Given the description of an element on the screen output the (x, y) to click on. 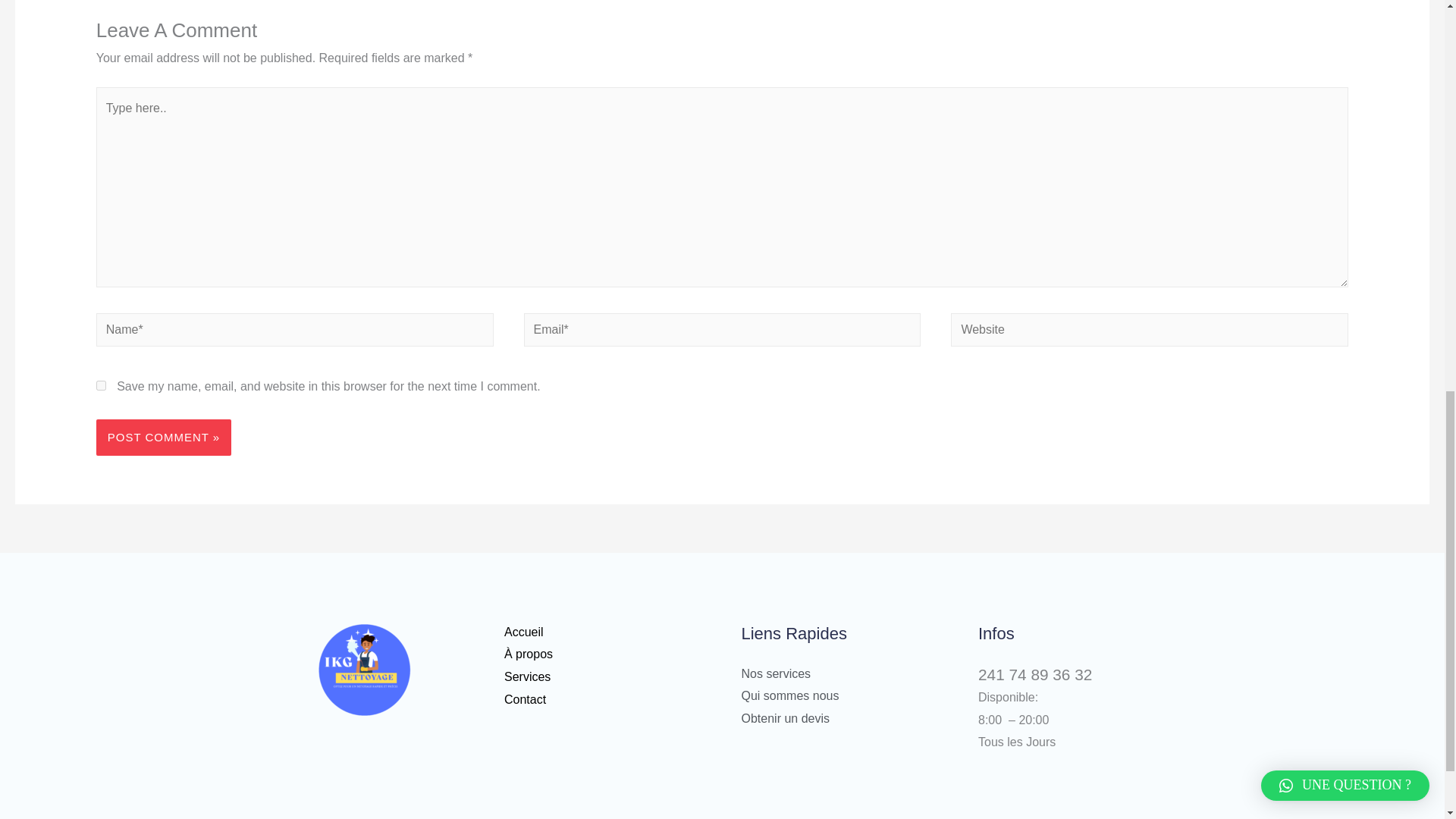
Accueil (523, 631)
Nos services (775, 673)
Contact (524, 698)
Qui sommes nous (790, 695)
Services (526, 676)
yes (101, 385)
Obtenir un devis (785, 717)
